Given the description of an element on the screen output the (x, y) to click on. 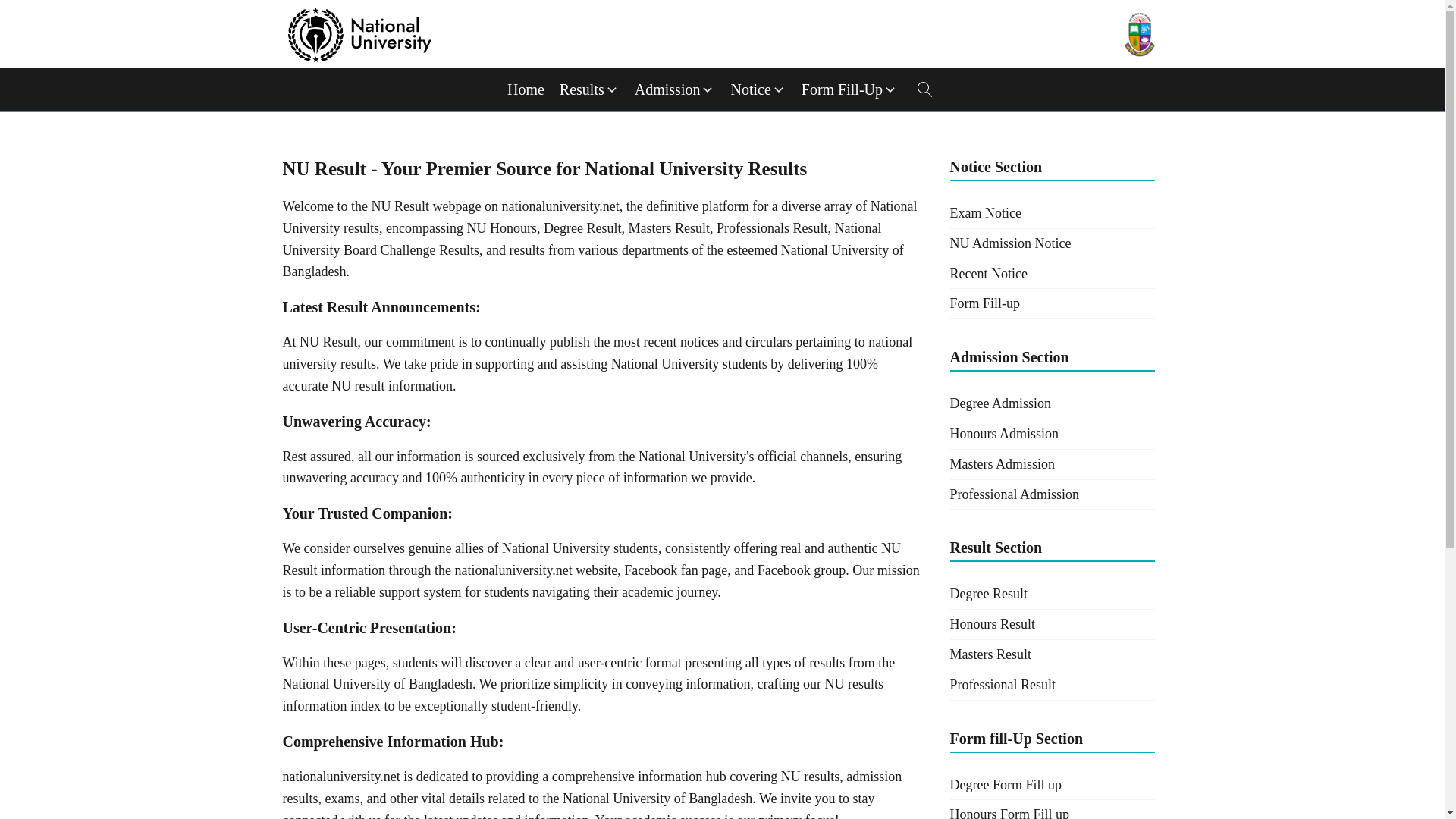
Masters Admission (1051, 464)
Home (525, 89)
Exam Notice (1051, 214)
Results (589, 89)
NU Admission Notice (1051, 244)
Form Fill-Up (849, 89)
Honours Admission (1051, 434)
Honours Result (1051, 624)
Search (27, 10)
Form Fill-up (1051, 304)
Professional Admission (1051, 494)
Recent Notice (1051, 274)
Degree Result (1051, 594)
Notice (757, 89)
Degree Admission (1051, 404)
